Given the description of an element on the screen output the (x, y) to click on. 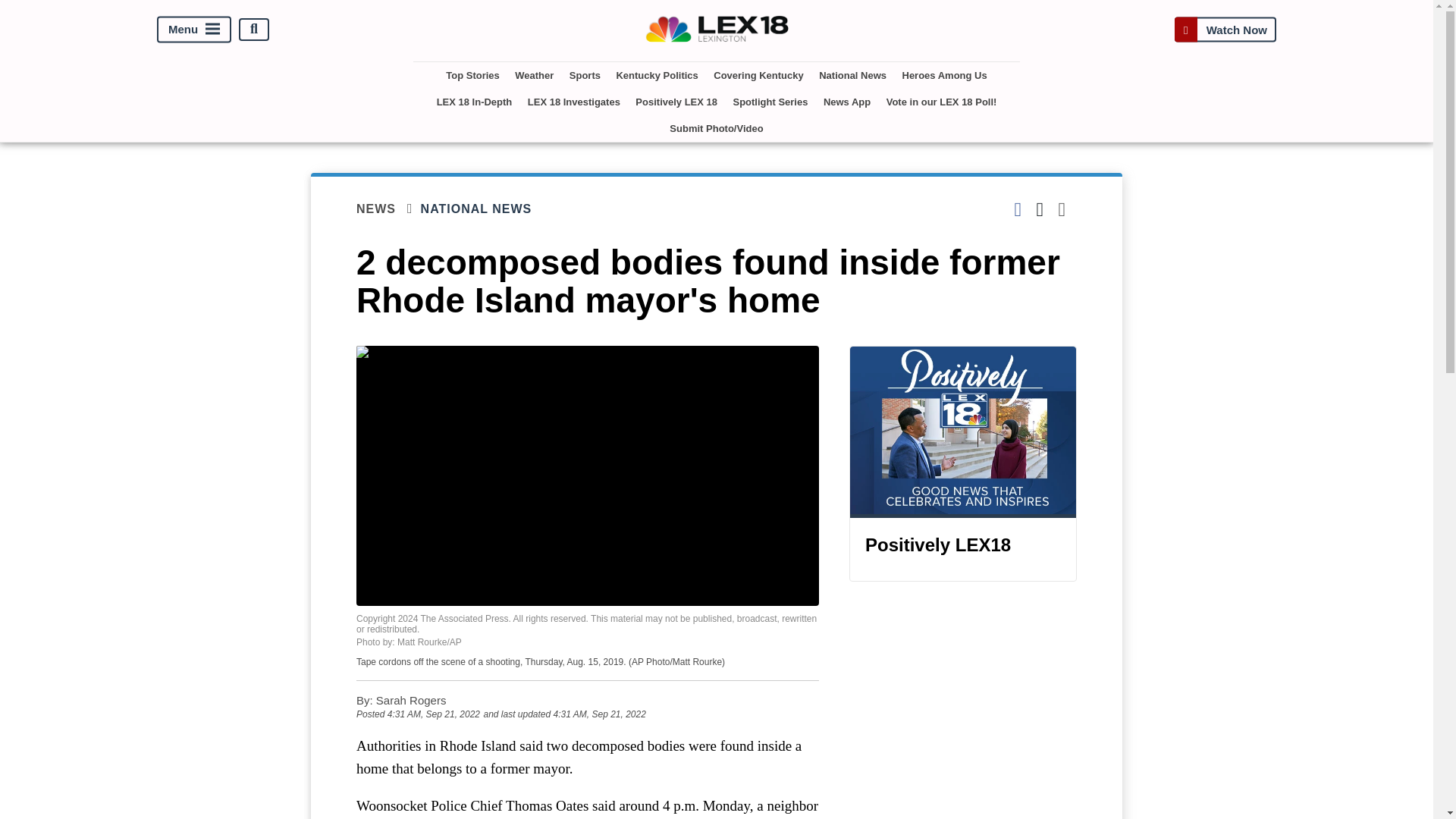
Menu (194, 28)
Watch Now (1224, 29)
